Given the description of an element on the screen output the (x, y) to click on. 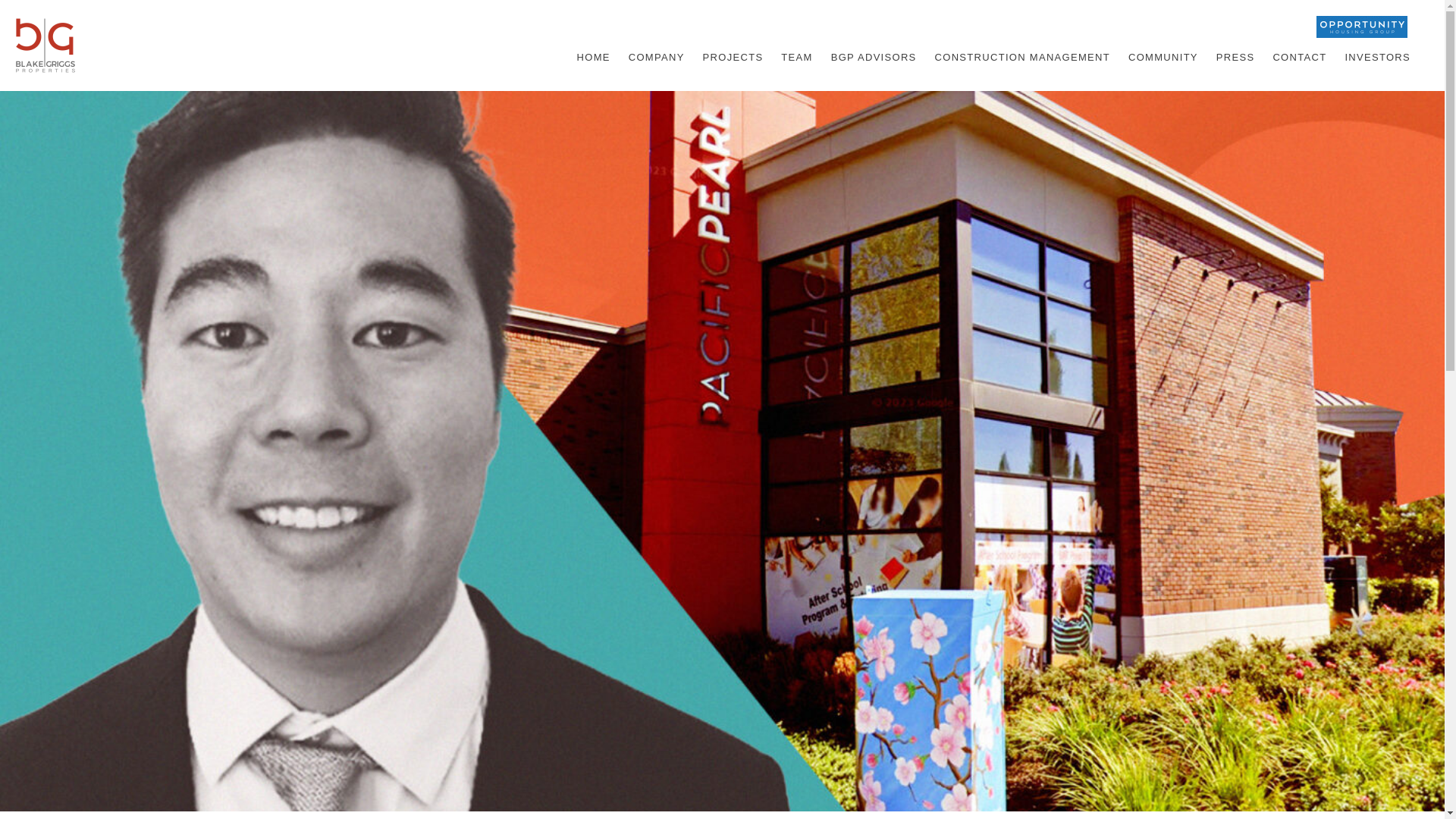
CONTACT (1299, 57)
HOME (593, 57)
PRESS (1236, 57)
TEAM (796, 57)
COMPANY (656, 57)
cropped-Blake-Griggs-Logo.png (44, 45)
INVESTORS (1377, 57)
COMMUNITY (1163, 57)
CONSTRUCTION MANAGEMENT (1021, 57)
PROJECTS (733, 57)
